Given the description of an element on the screen output the (x, y) to click on. 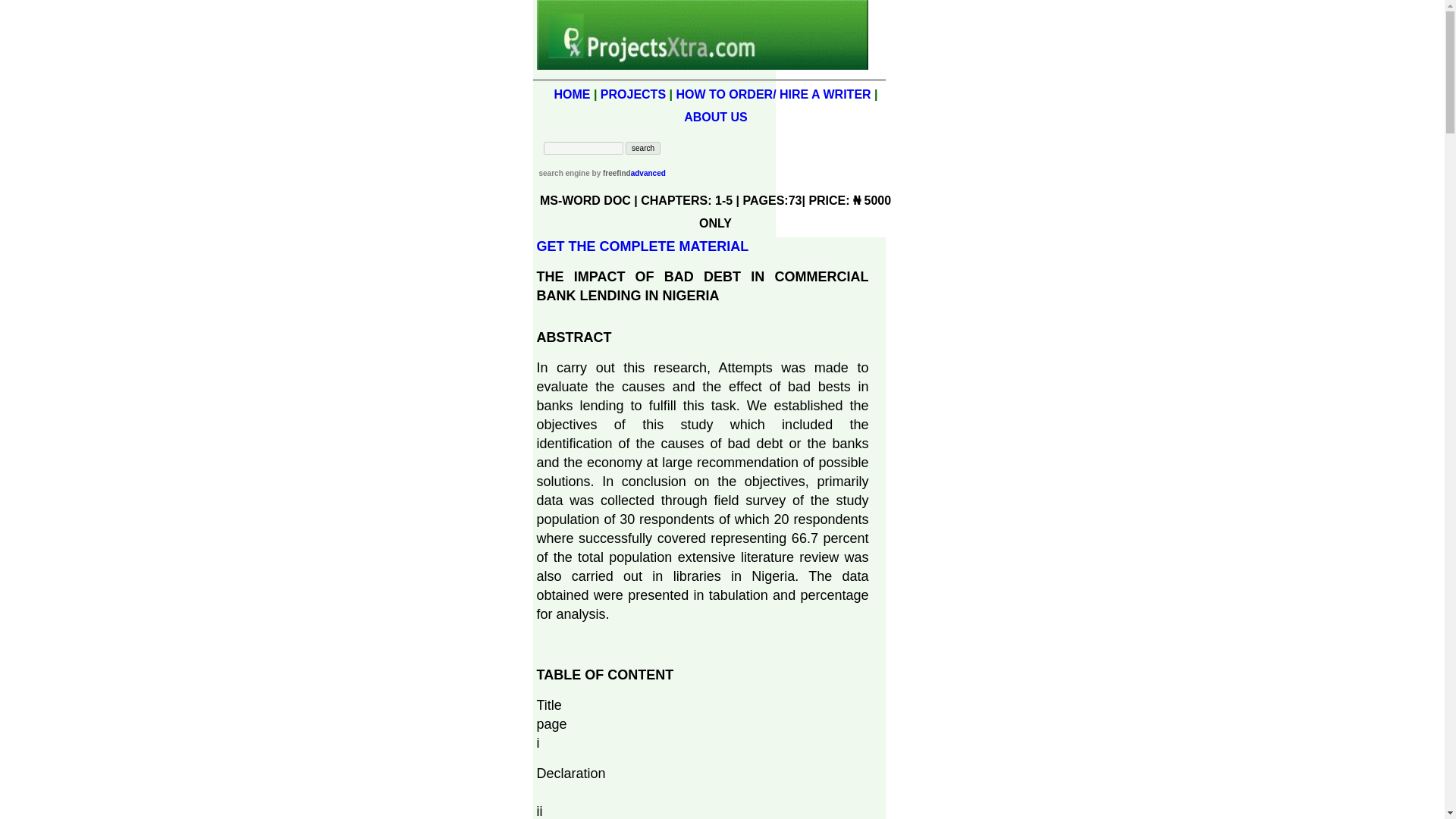
by freefind (609, 172)
search (643, 147)
ABOUT US (716, 116)
PROJECTS (632, 93)
search engine (563, 172)
HOME (571, 93)
advanced (647, 172)
search (643, 147)
GET THE COMPLETE MATERIAL (643, 246)
